Given the description of an element on the screen output the (x, y) to click on. 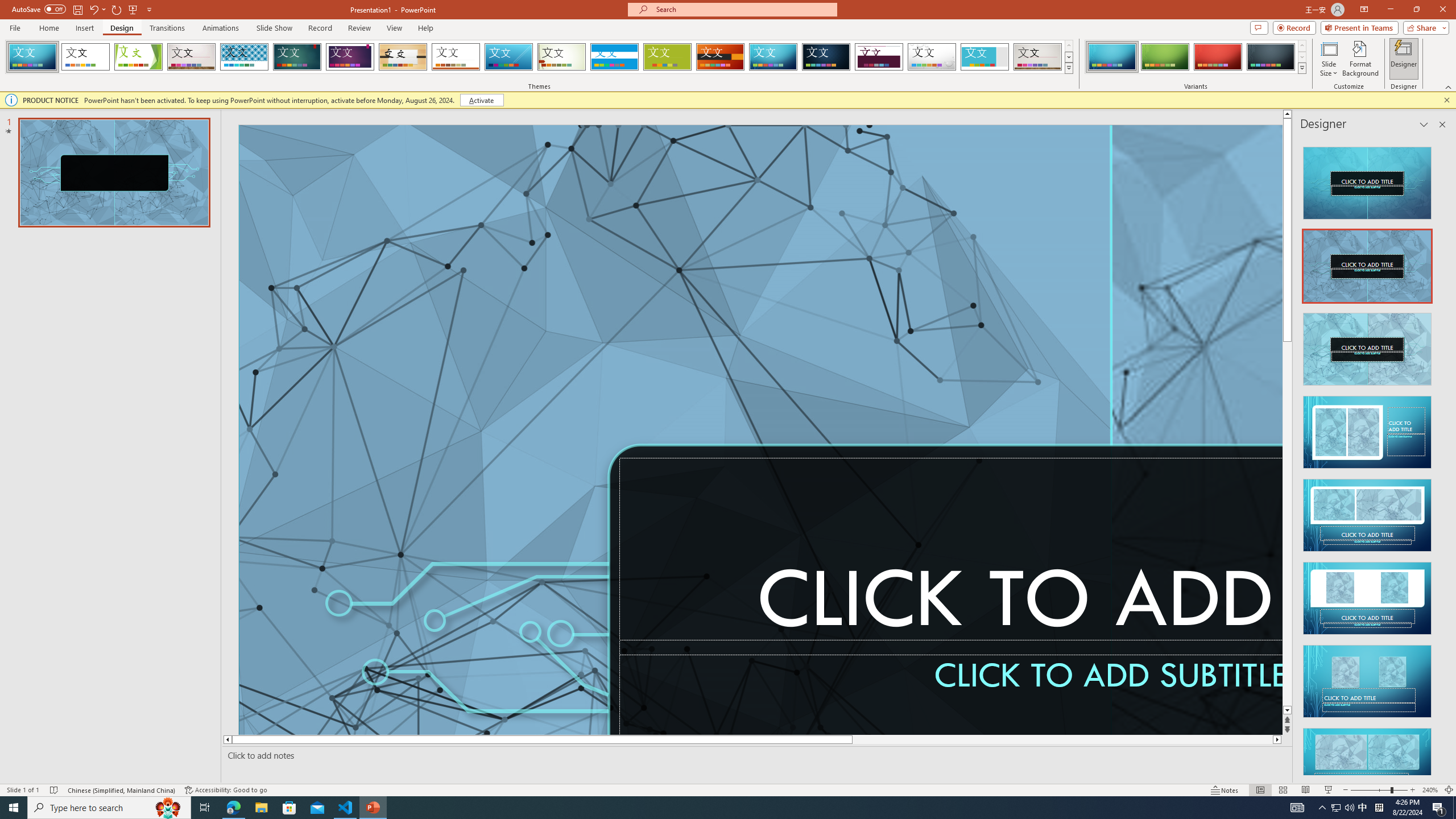
Decorative (594, 637)
Droplet (931, 56)
Slice (508, 56)
Circuit Variant 4 (1270, 56)
